Given the description of an element on the screen output the (x, y) to click on. 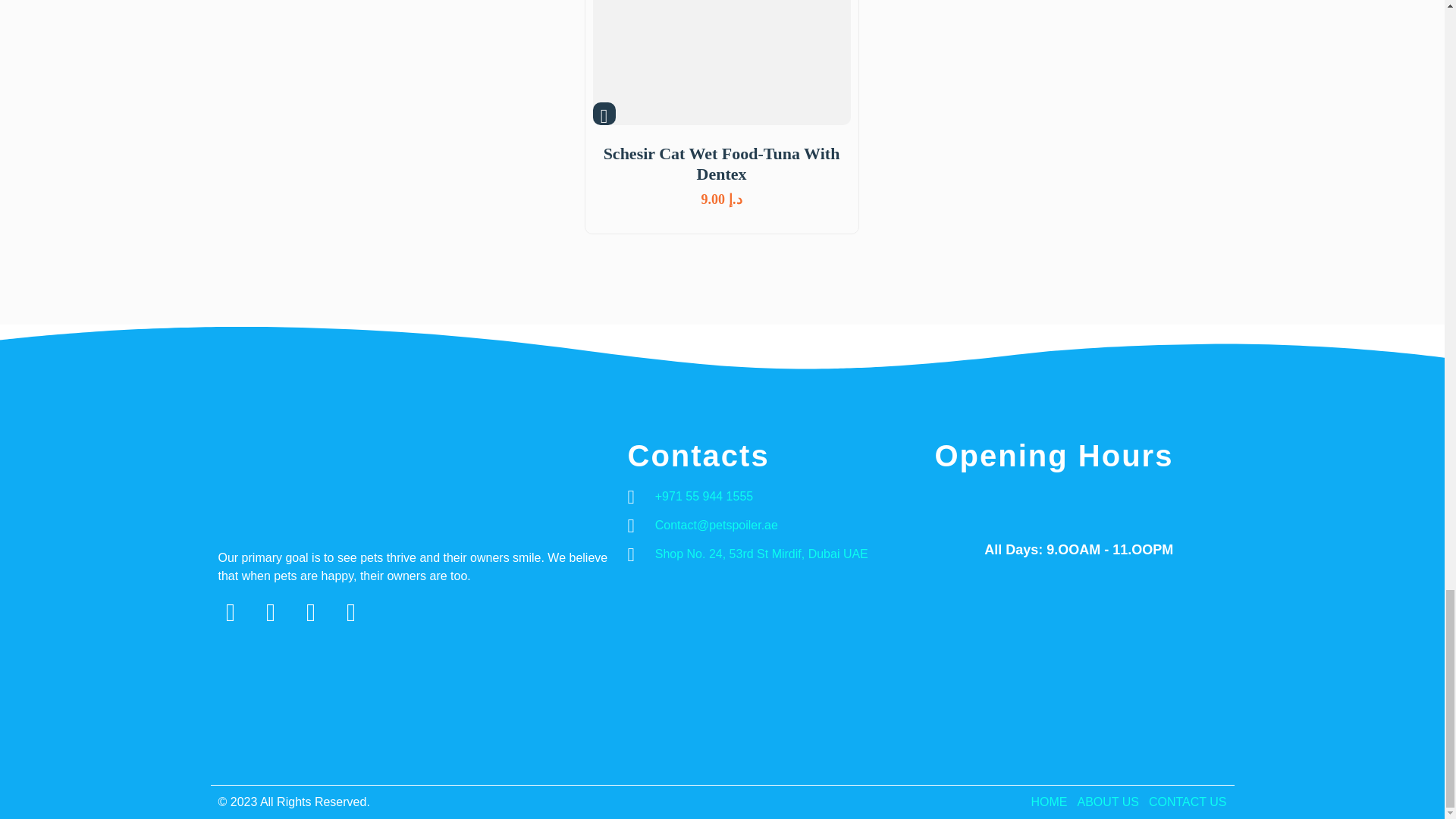
Schesir Cat Wet Food-Tuna With Dentex (721, 164)
